Given the description of an element on the screen output the (x, y) to click on. 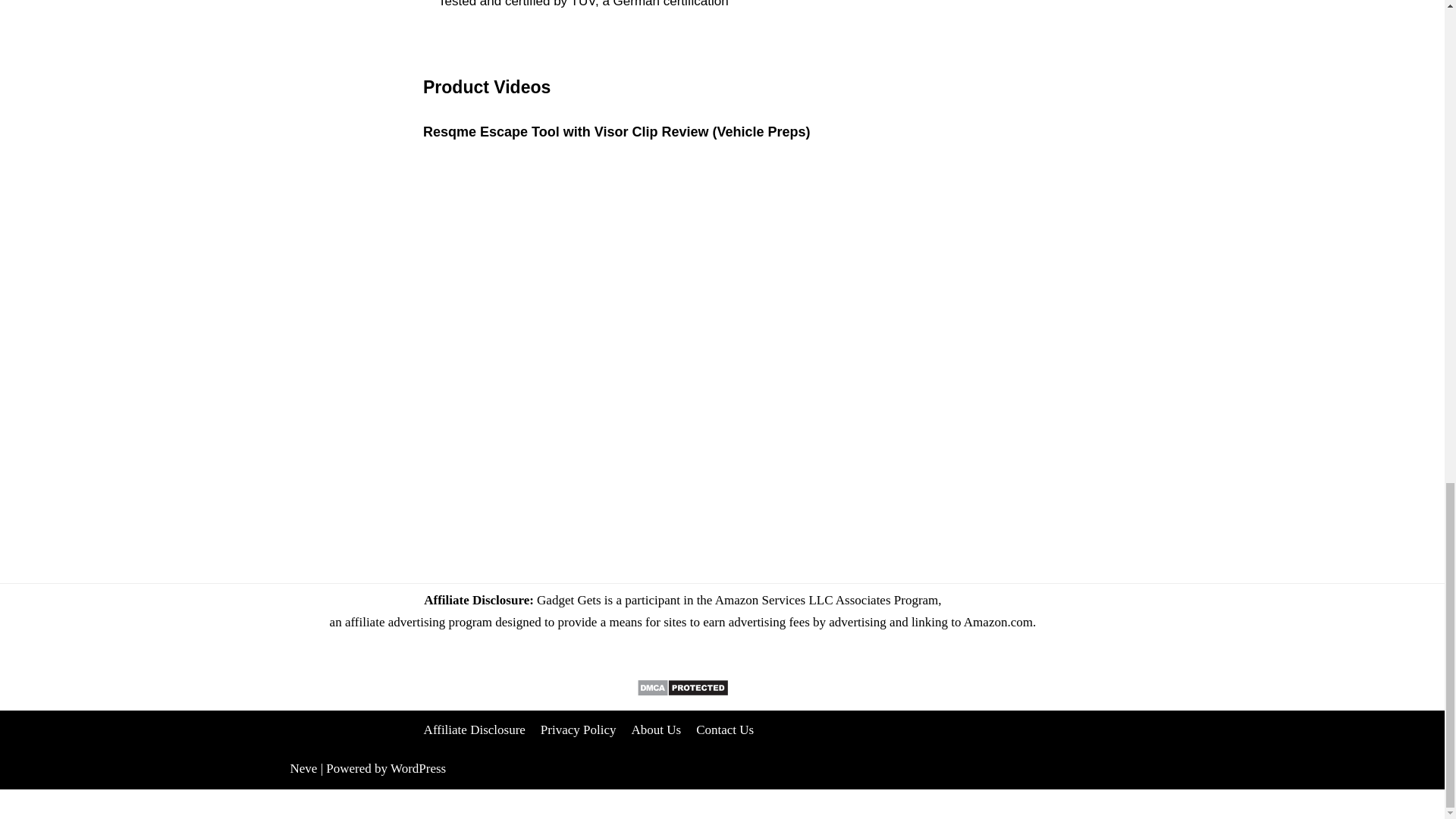
DMCA.com Protection Status (683, 692)
